Given the description of an element on the screen output the (x, y) to click on. 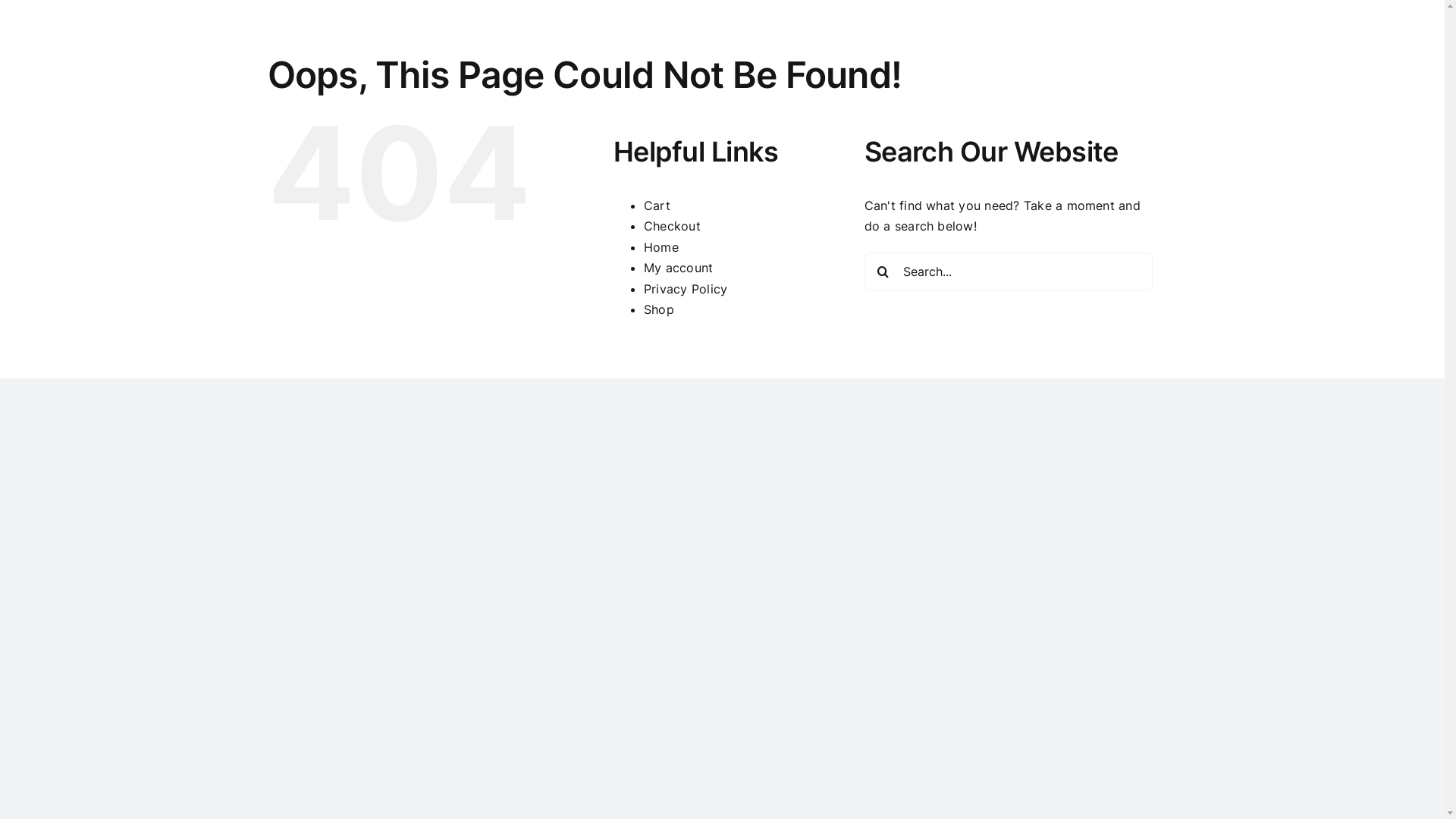
My account Element type: text (677, 267)
Checkout Element type: text (671, 225)
Shop Element type: text (658, 308)
Cart Element type: text (656, 205)
Home Element type: text (660, 246)
Privacy Policy Element type: text (685, 288)
